Given the description of an element on the screen output the (x, y) to click on. 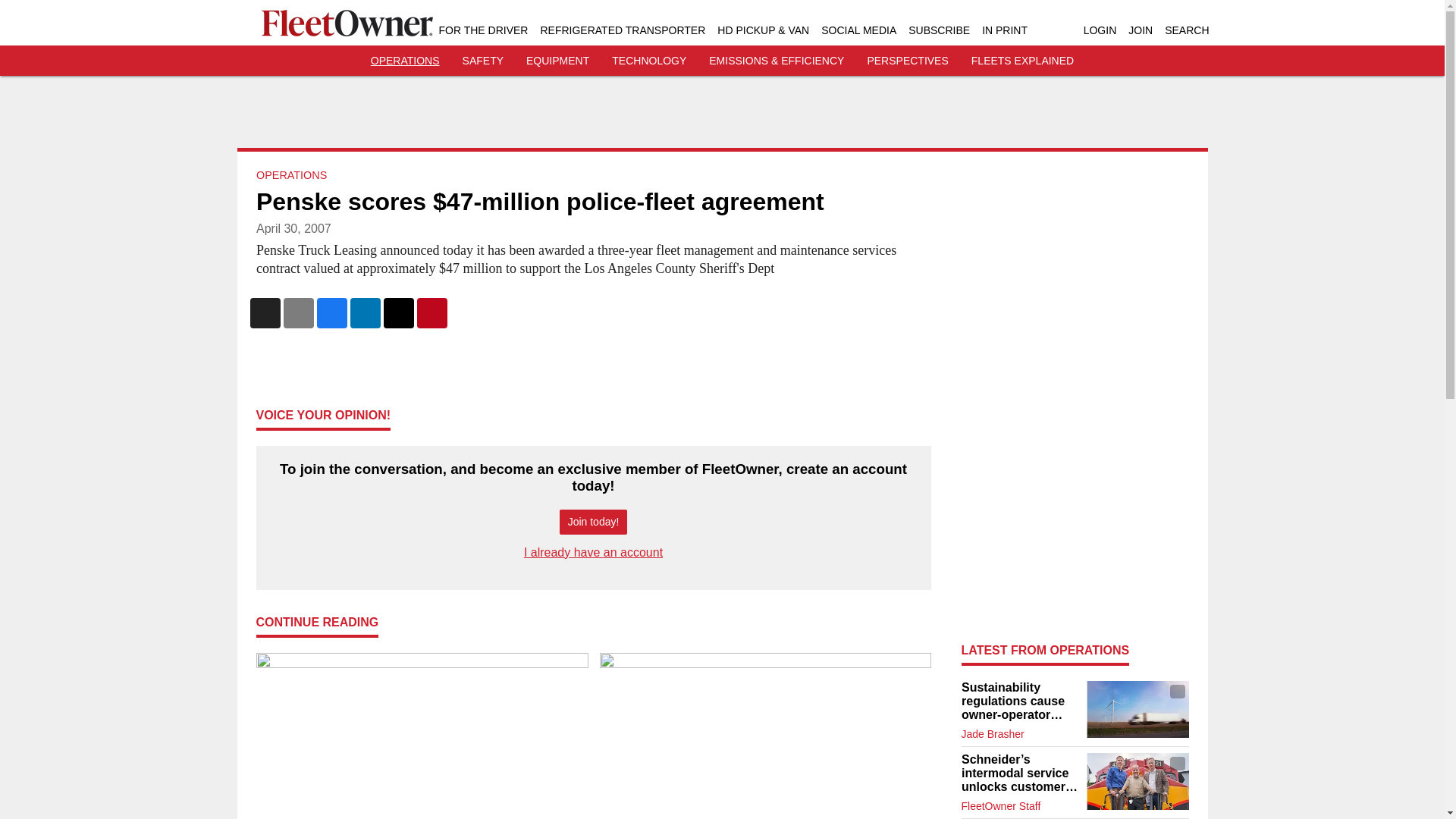
JOIN (1140, 30)
PERSPECTIVES (906, 60)
OPERATIONS (405, 60)
TECHNOLOGY (648, 60)
EQUIPMENT (557, 60)
SAFETY (483, 60)
SEARCH (1186, 30)
FLEETS EXPLAINED (1022, 60)
SUBSCRIBE (938, 30)
SOCIAL MEDIA (858, 30)
